Given the description of an element on the screen output the (x, y) to click on. 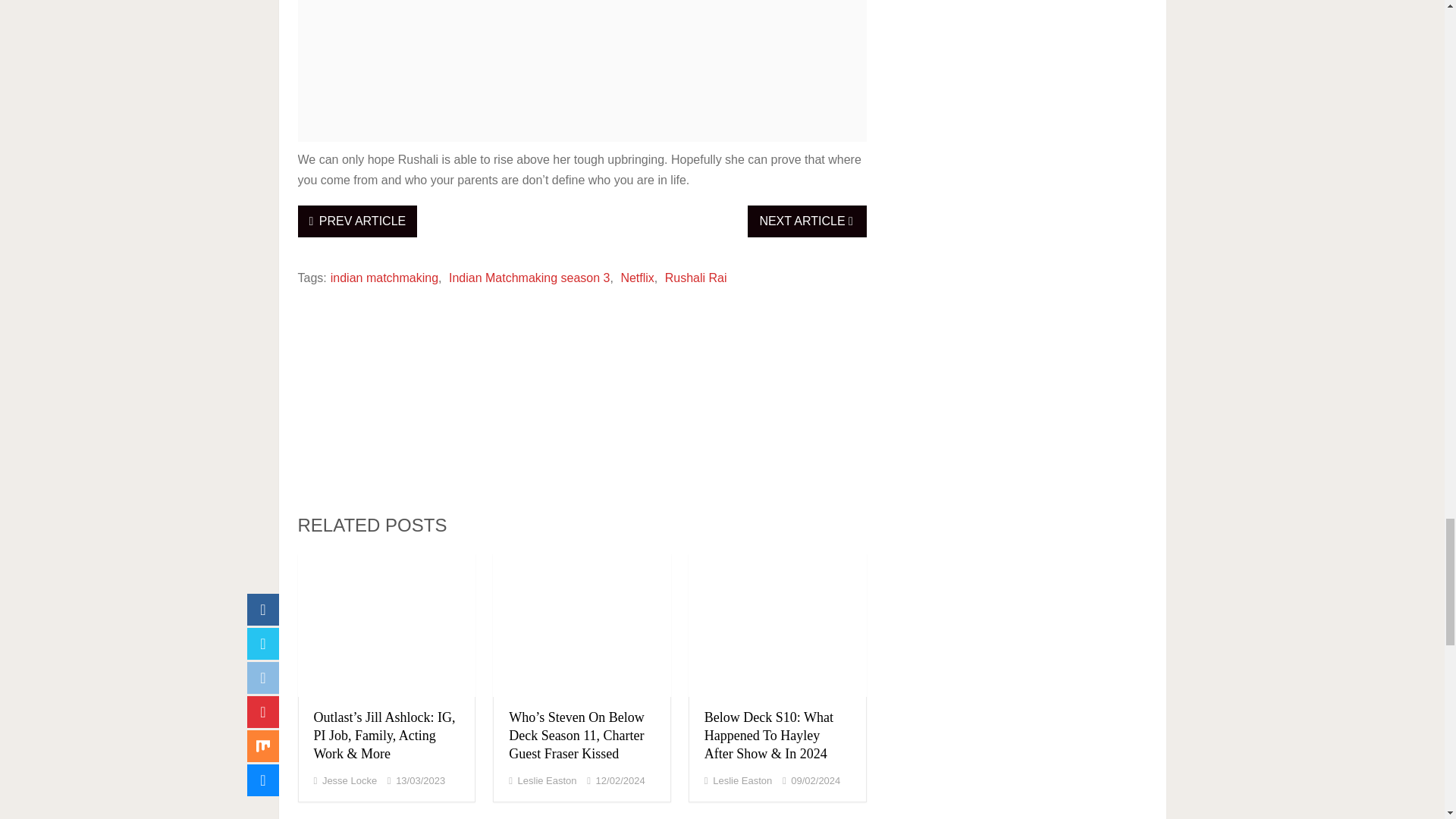
indian matchmaking (384, 277)
Rushali Rai (695, 277)
PREV ARTICLE (356, 221)
Posts by Leslie Easton (547, 780)
Leslie Easton (742, 780)
Indian Matchmaking season 3 (529, 277)
Leslie Easton (547, 780)
Posts by Jesse Locke (349, 780)
Netflix (636, 277)
NEXT ARTICLE (807, 221)
